Given the description of an element on the screen output the (x, y) to click on. 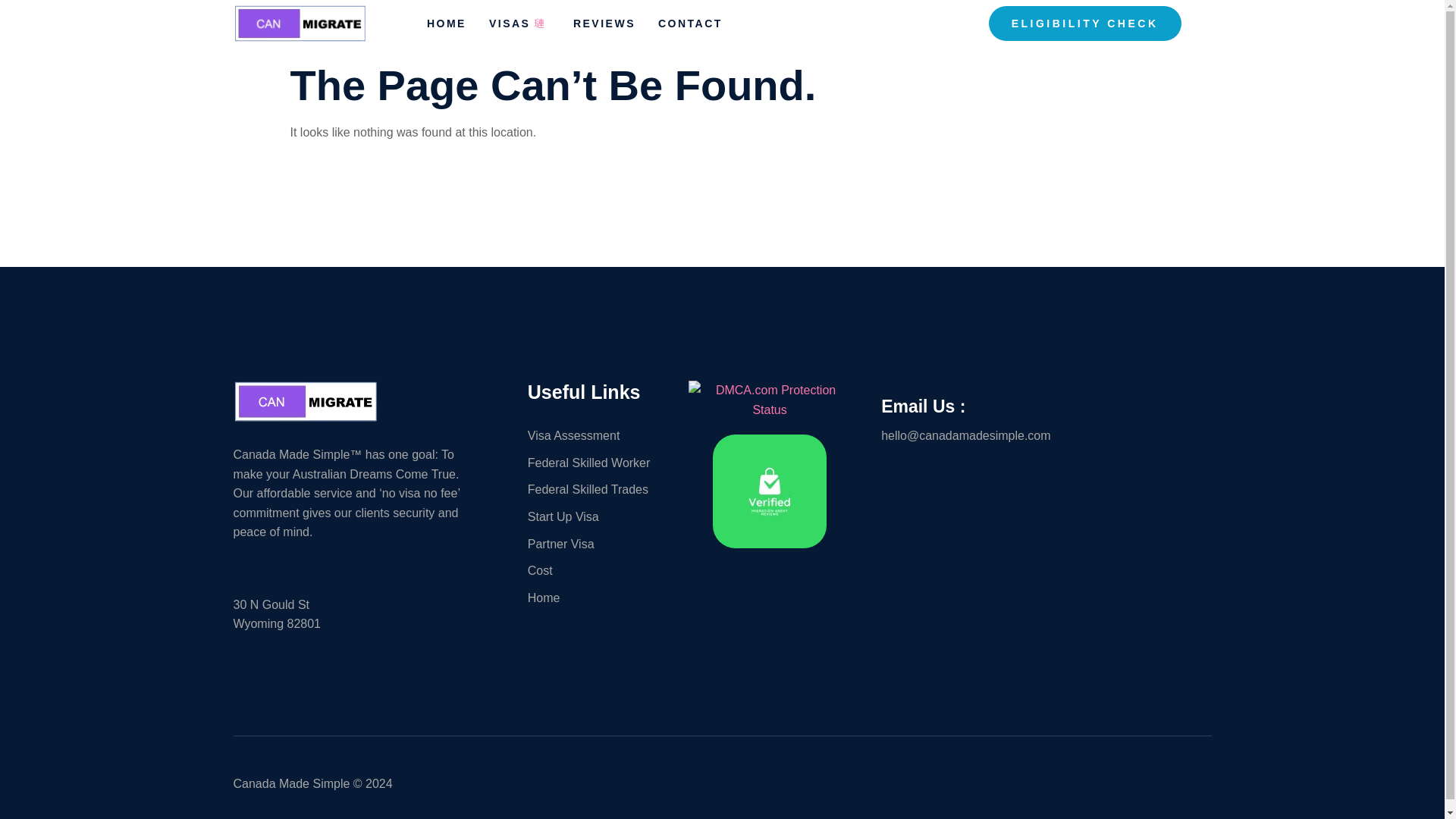
Federal Skilled Worker (599, 463)
Cost (599, 570)
VISAS (531, 27)
HOME (457, 27)
DMCA.com Protection Status (769, 409)
Start Up Visa (599, 516)
Home (599, 598)
Partner Visa (599, 544)
ELIGIBILITY CHECK (1084, 23)
Federal Skilled Trades (599, 489)
